Given the description of an element on the screen output the (x, y) to click on. 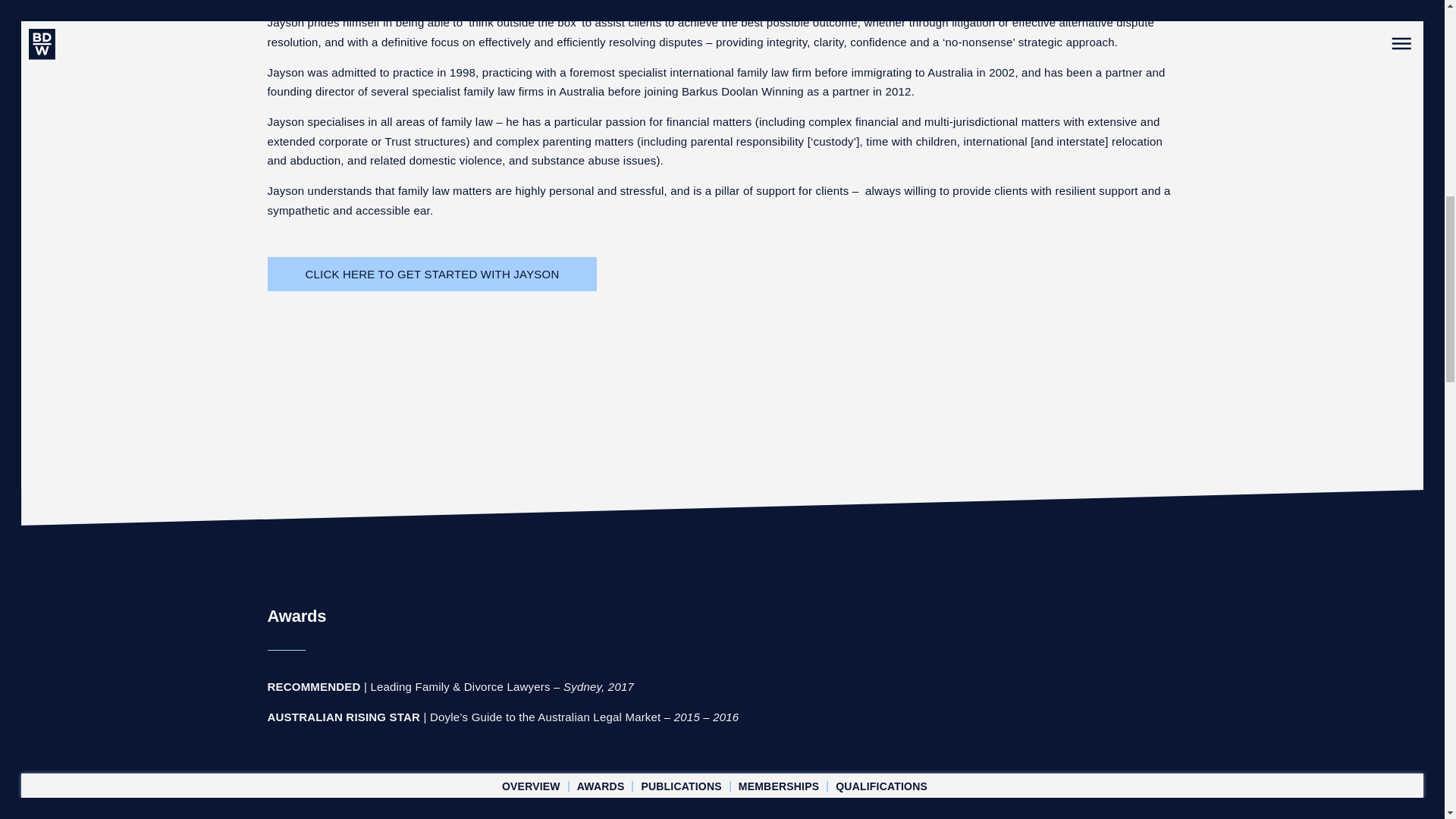
CLICK HERE TO GET STARTED WITH JAYSON (431, 274)
